Given the description of an element on the screen output the (x, y) to click on. 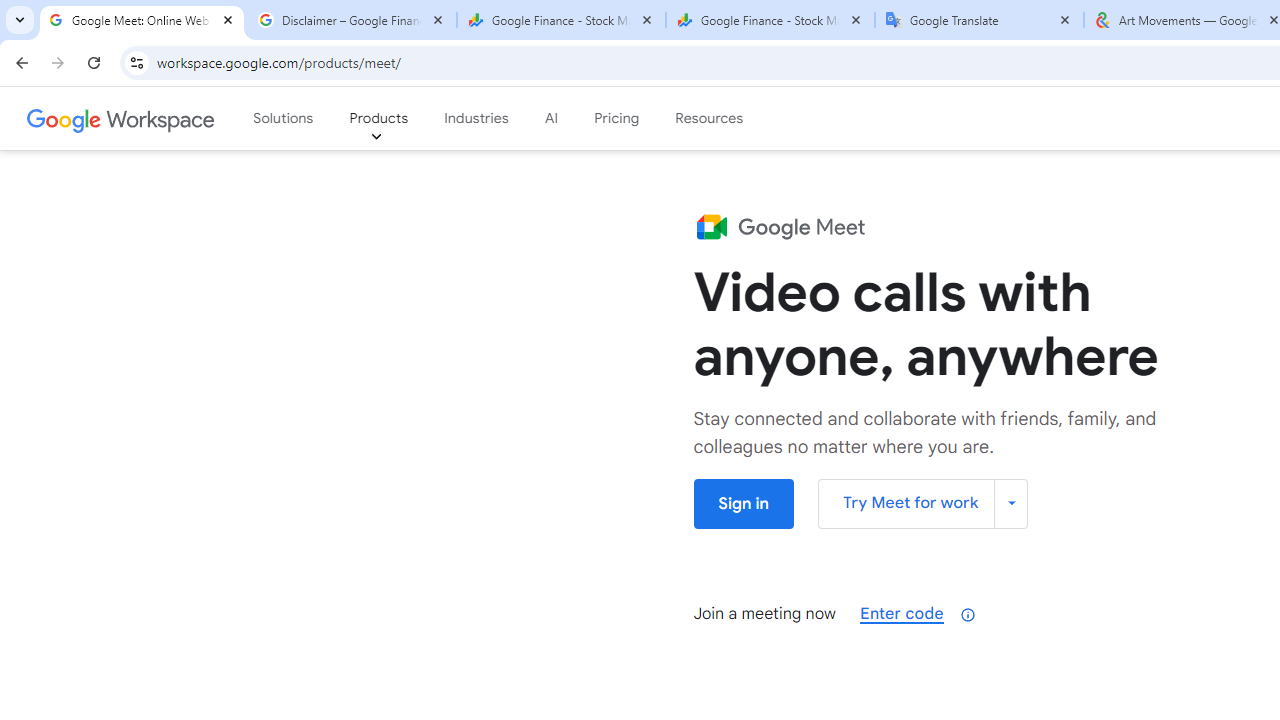
Pricing (616, 119)
Enter code (902, 613)
Google Meet Product Logo (779, 226)
Solutions (283, 119)
Sign into Google Meet  (743, 503)
Industries (476, 119)
Google Workspace (122, 119)
